Given the description of an element on the screen output the (x, y) to click on. 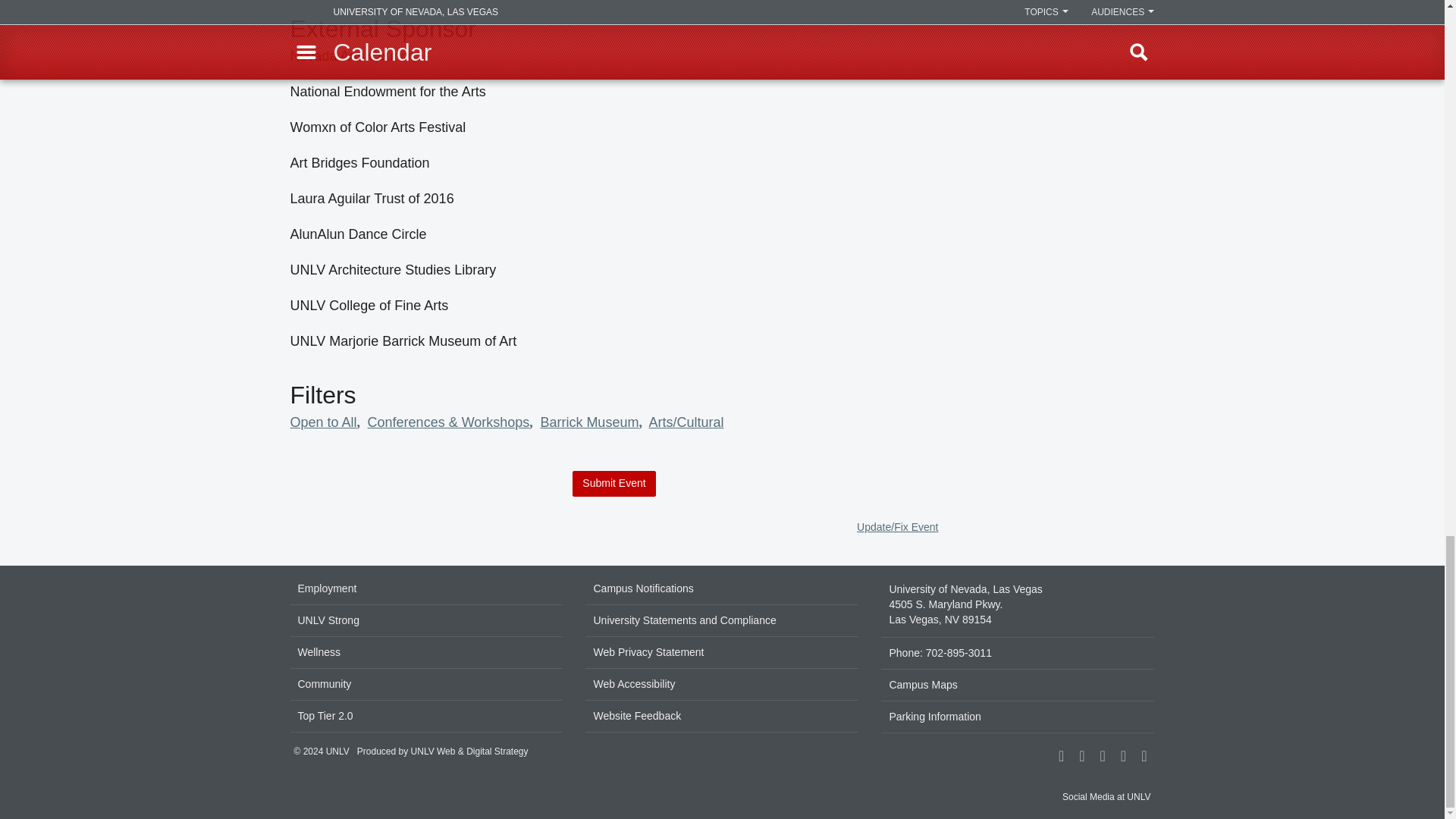
Follow us on Twitter (1122, 757)
View Campus Map (1017, 605)
Watch us on YouTube (1143, 757)
Find us on Facebook (1060, 757)
Follow us on TikTok (1102, 757)
Find us on Instagram (1081, 757)
